Given the description of an element on the screen output the (x, y) to click on. 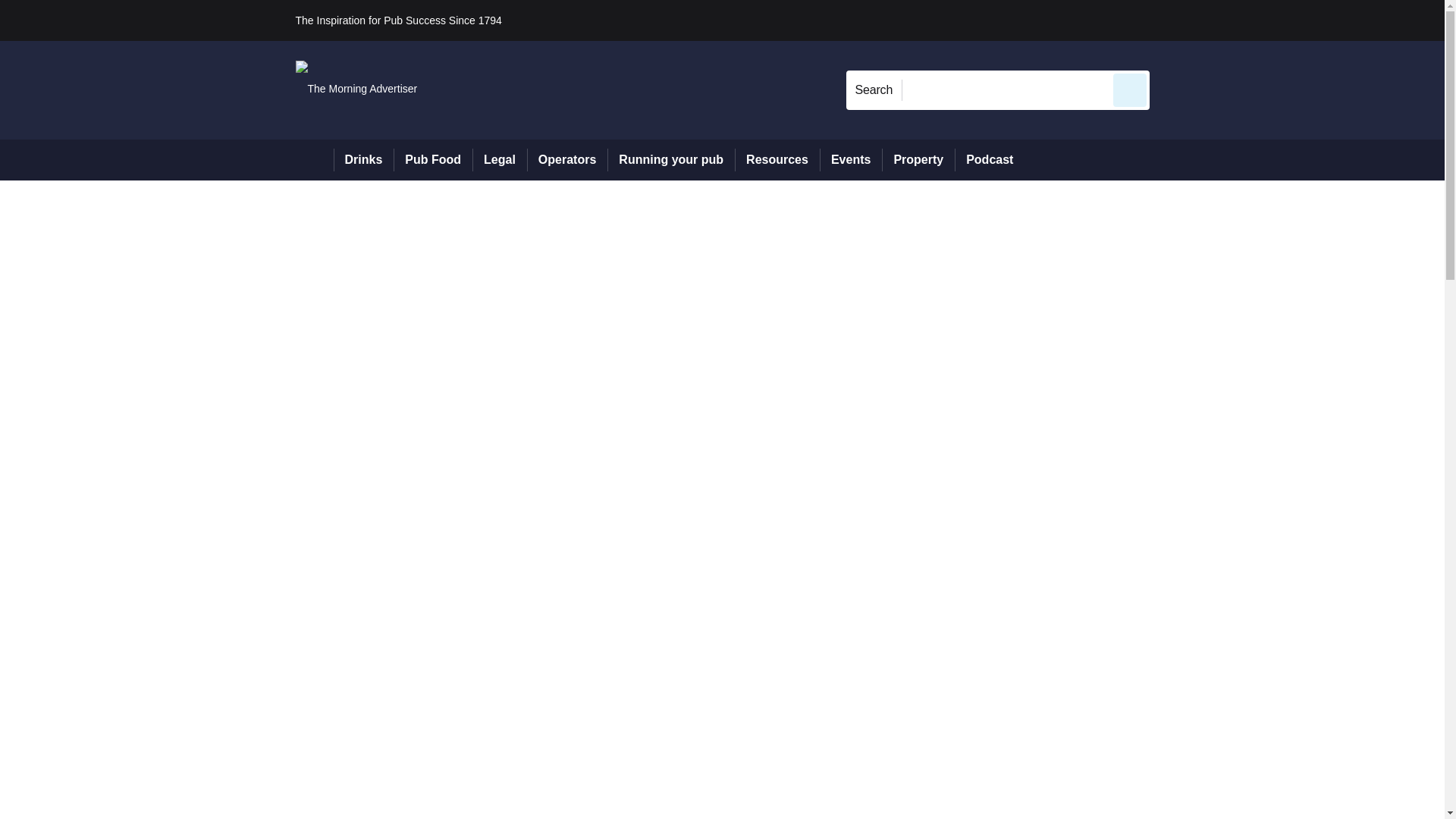
Home (313, 159)
REGISTER (1250, 20)
Home (314, 159)
Legal (499, 159)
My account (1256, 20)
Sign out (1174, 20)
Send (1129, 90)
Drinks (363, 159)
Pub Food (432, 159)
Send (1129, 89)
